Given the description of an element on the screen output the (x, y) to click on. 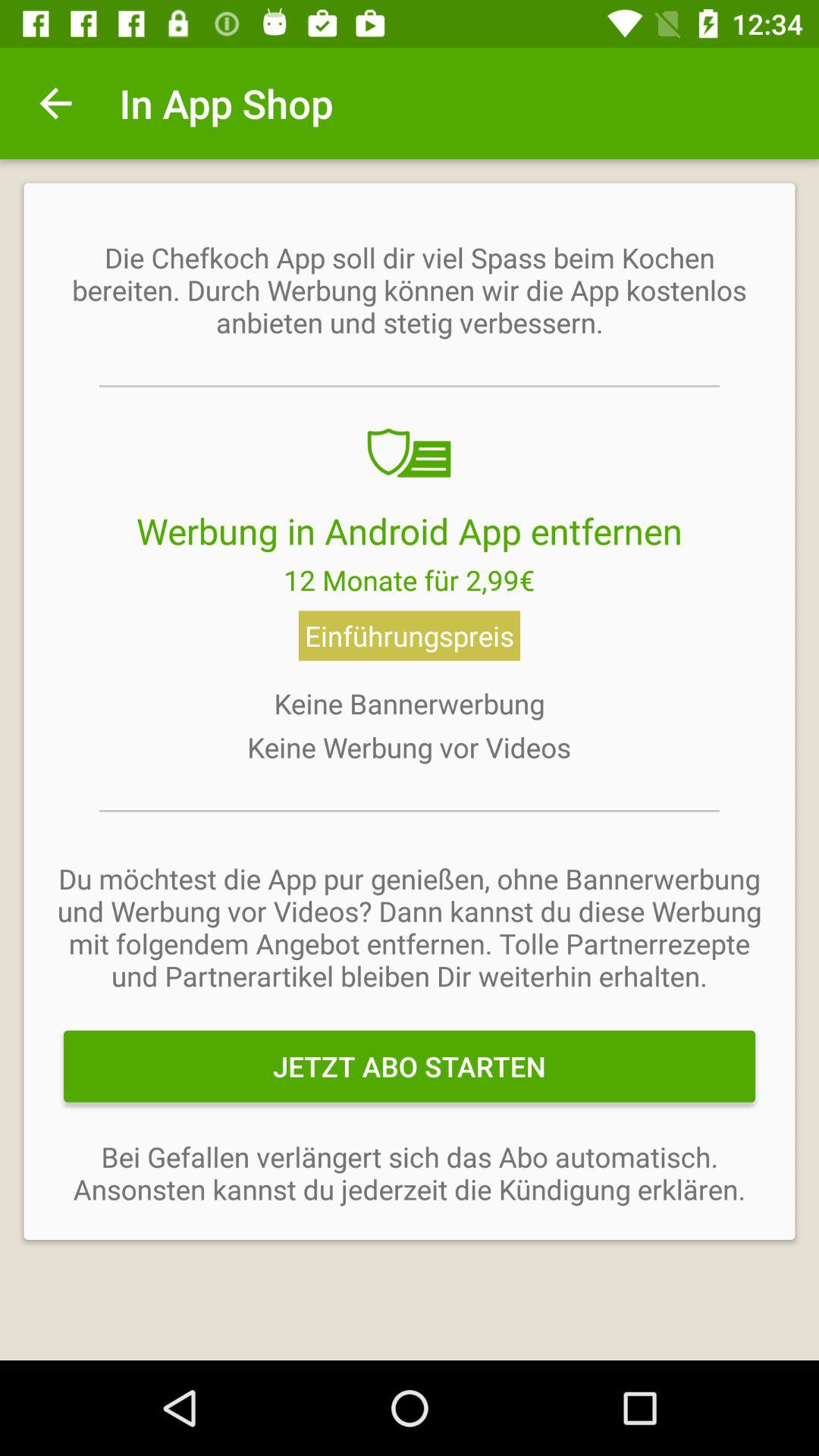
open jetzt abo starten (409, 1066)
